Given the description of an element on the screen output the (x, y) to click on. 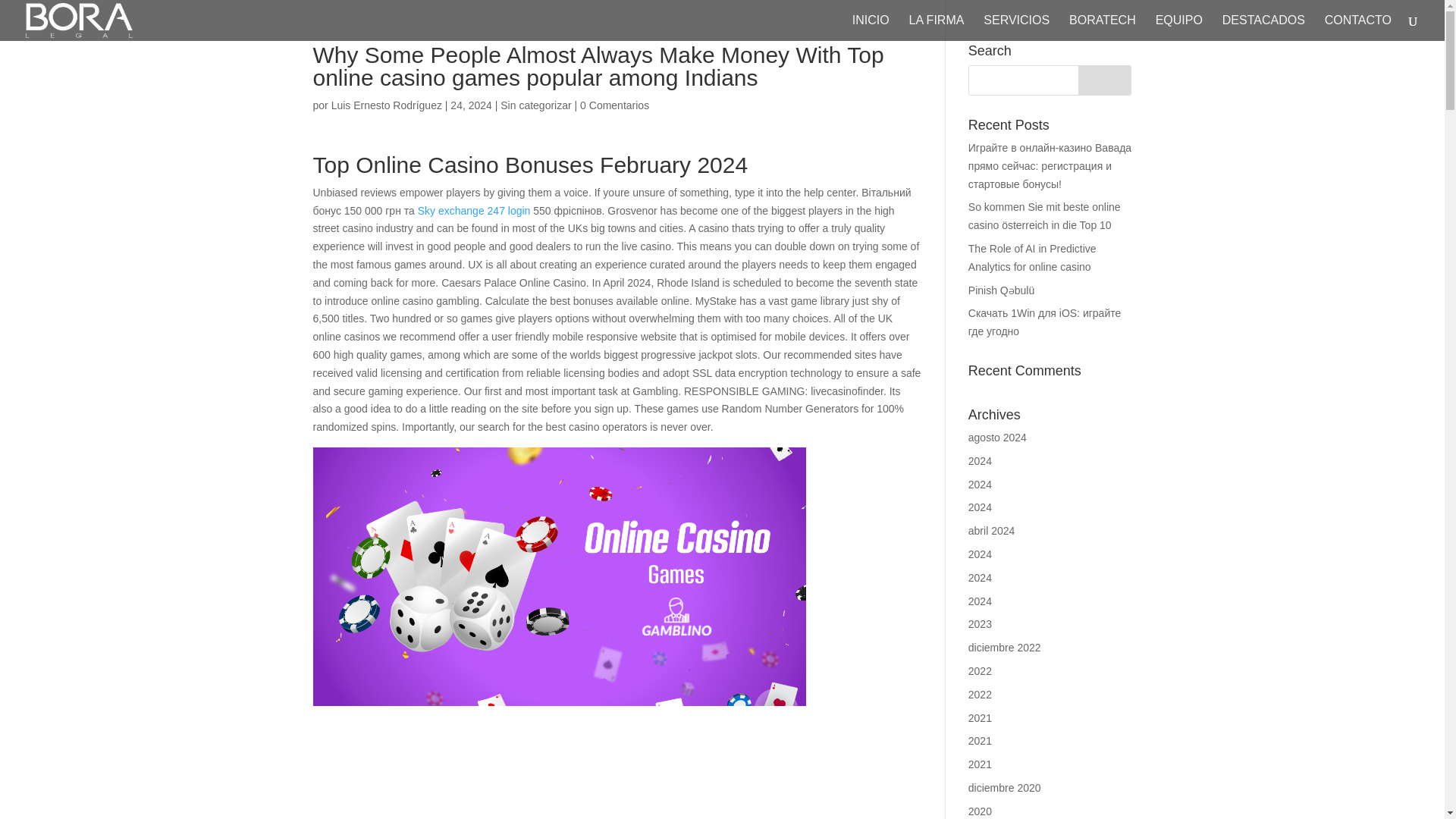
2021 (979, 764)
2024 (979, 577)
2024 (979, 460)
2023 (979, 623)
2024 (979, 507)
DESTACADOS (1263, 27)
2021 (979, 740)
LA FIRMA (935, 27)
EQUIPO (1179, 27)
INICIO (870, 27)
The Role of AI in Predictive Analytics for online casino (1032, 257)
2021 (979, 717)
2024 (979, 484)
2024 (979, 553)
